Given the description of an element on the screen output the (x, y) to click on. 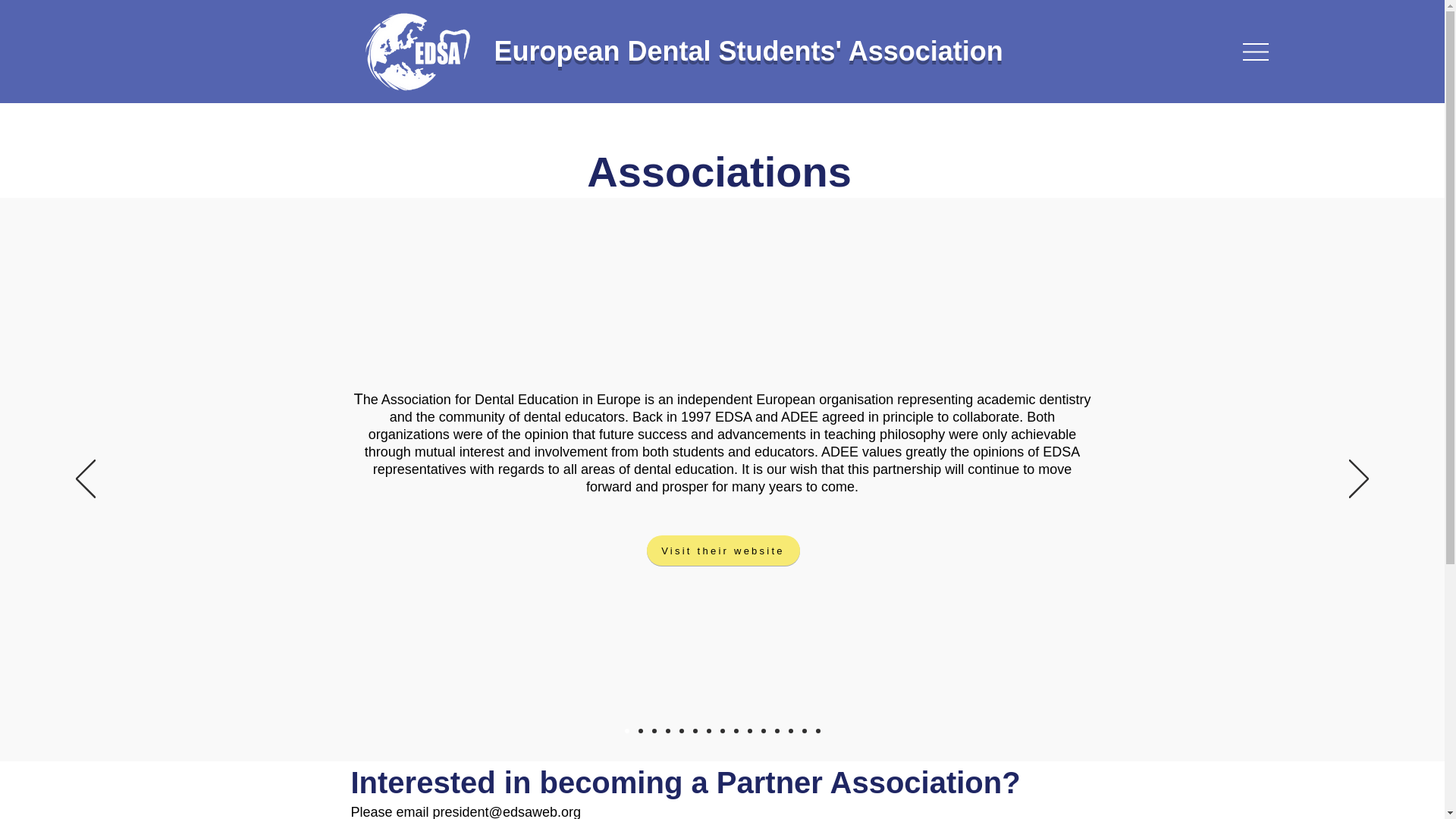
Visit their website (722, 550)
